Given the description of an element on the screen output the (x, y) to click on. 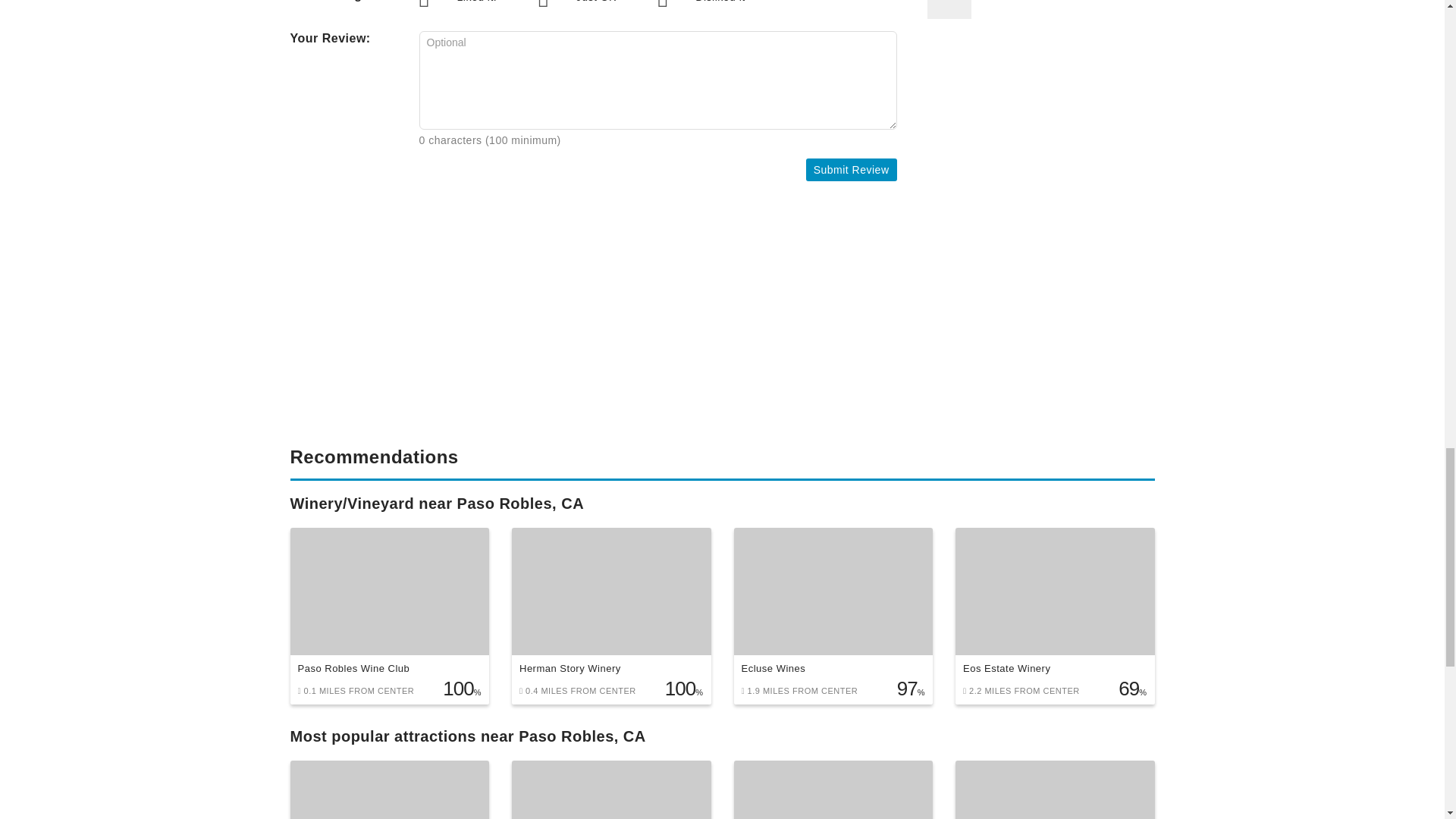
Submit Review (851, 169)
